Given the description of an element on the screen output the (x, y) to click on. 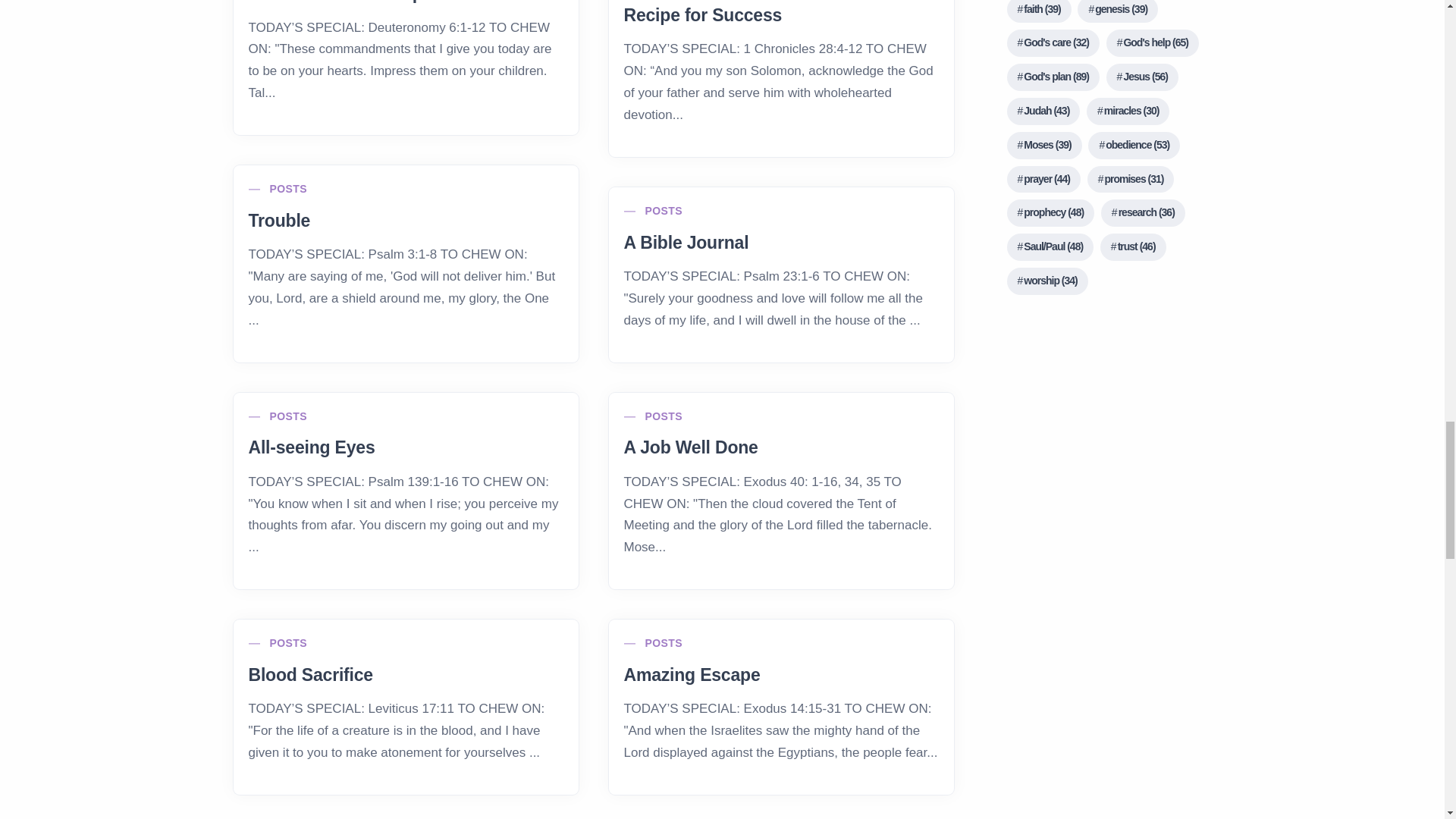
44 topics (1043, 179)
30 topics (1127, 111)
89 topics (1053, 76)
53 topics (1133, 144)
39 topics (1039, 11)
36 topics (1142, 212)
65 topics (1152, 42)
56 topics (1141, 76)
39 topics (1117, 11)
32 topics (1053, 42)
31 topics (1130, 179)
43 topics (1043, 111)
39 topics (1044, 144)
48 topics (1050, 212)
